Given the description of an element on the screen output the (x, y) to click on. 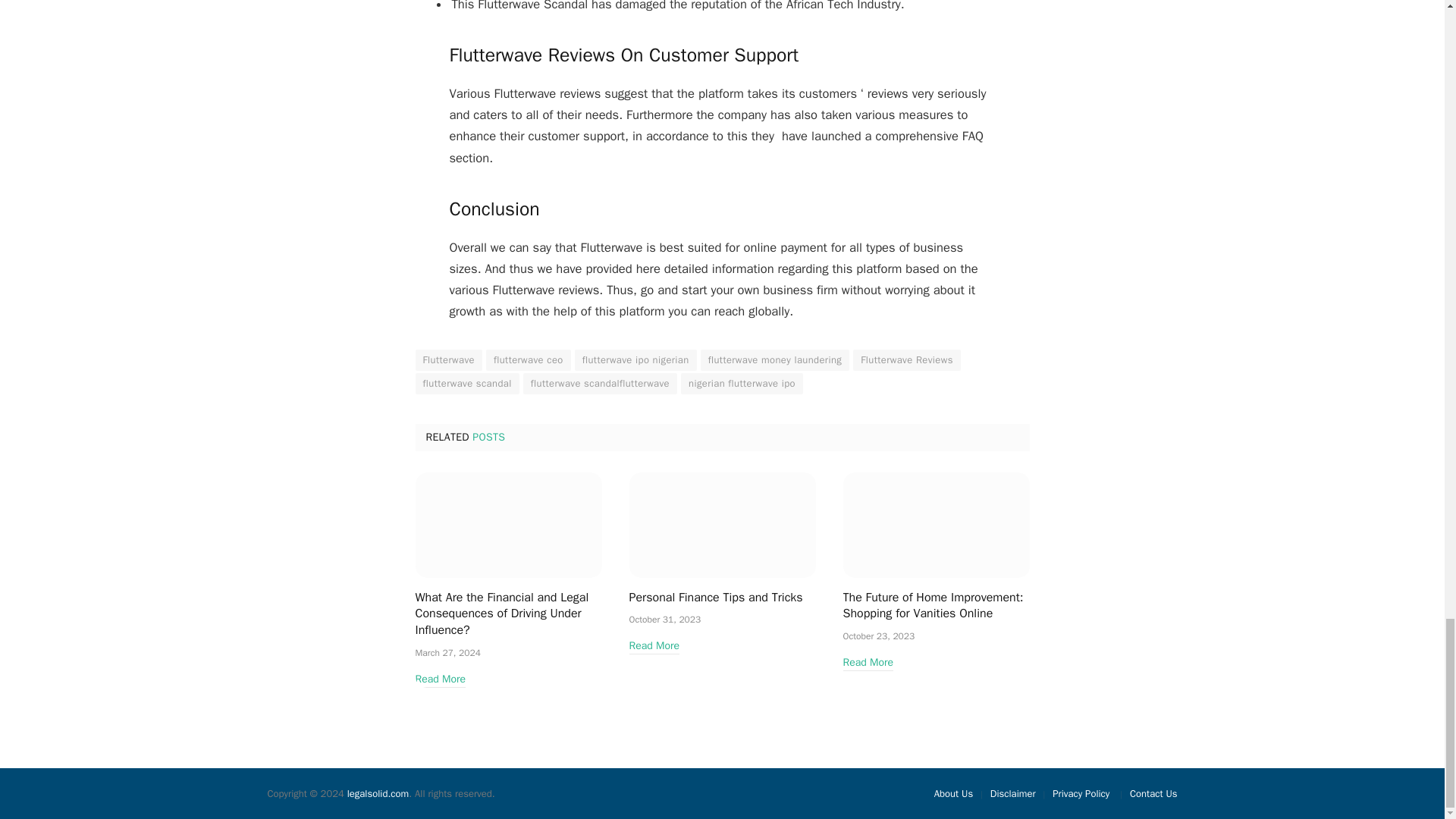
Flutterwave (447, 360)
